Given the description of an element on the screen output the (x, y) to click on. 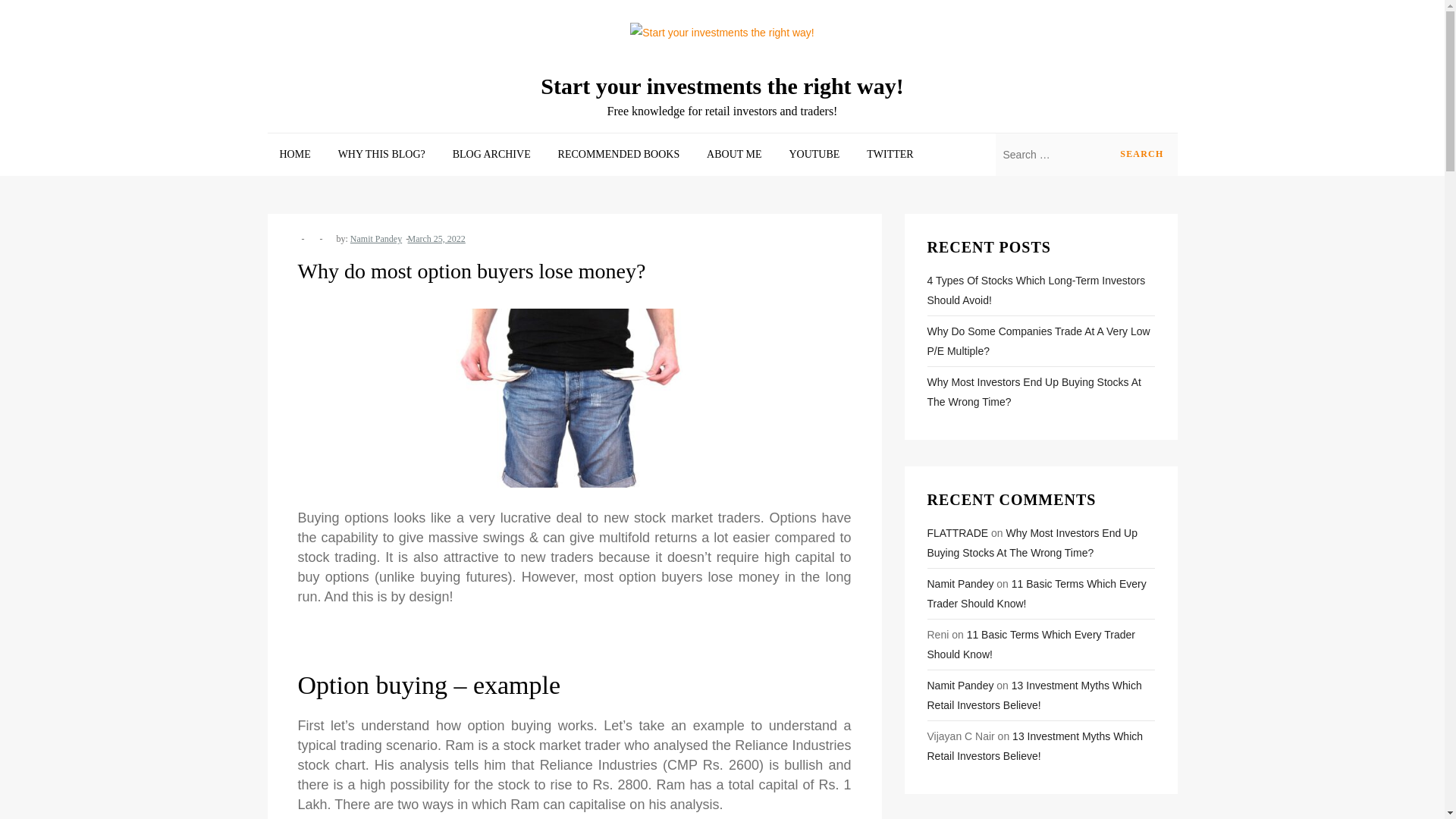
Start your investments the right way! (722, 85)
RECOMMENDED BOOKS (619, 154)
Search (1141, 154)
March 25, 2022 (436, 238)
BLOG ARCHIVE (492, 154)
ABOUT ME (733, 154)
Search (1141, 154)
WHY THIS BLOG? (382, 154)
HOME (293, 154)
Search (1141, 154)
